Given the description of an element on the screen output the (x, y) to click on. 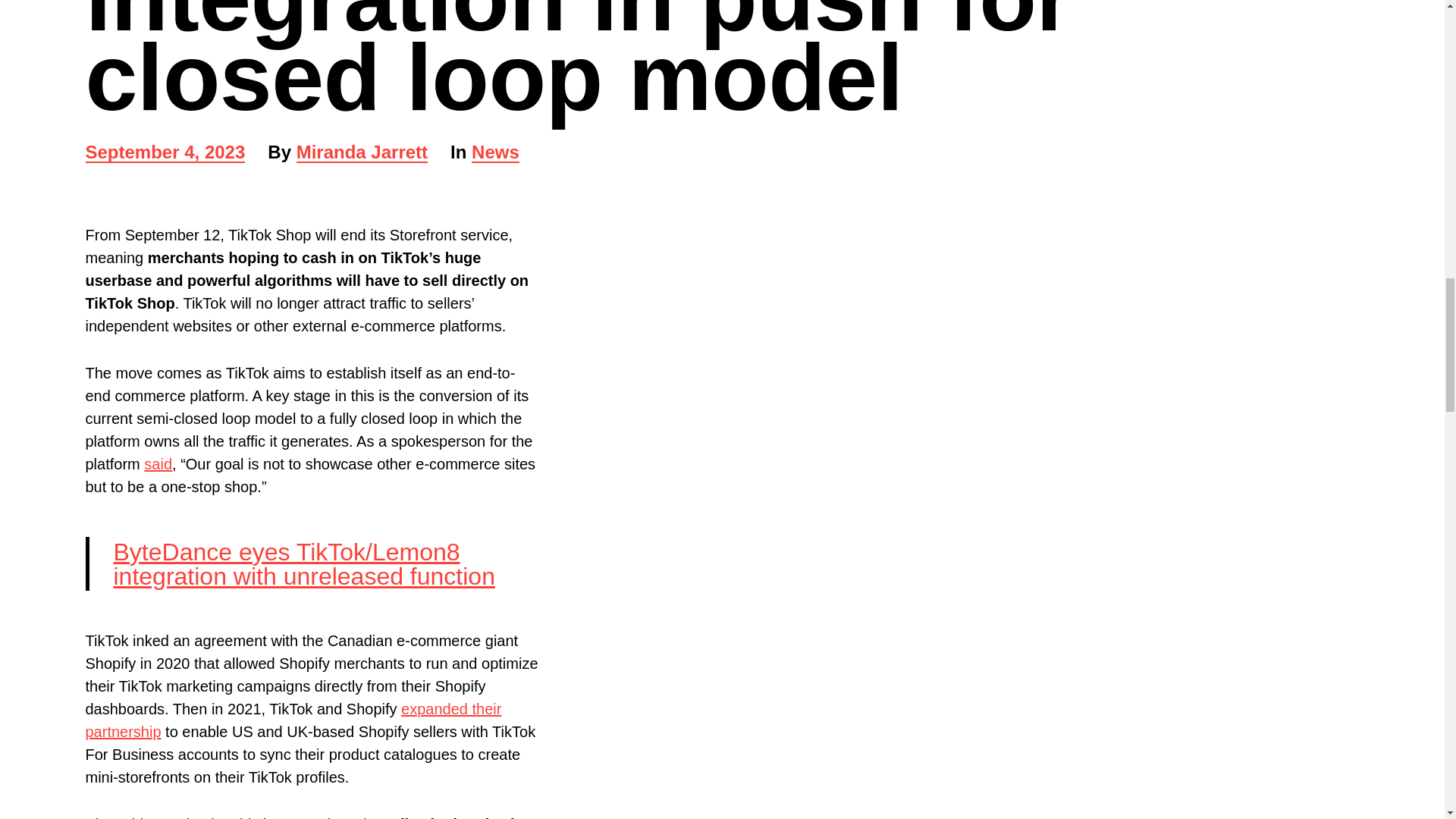
News (495, 153)
said (157, 463)
Miranda Jarrett (164, 153)
expanded their partnership (362, 153)
